Given the description of an element on the screen output the (x, y) to click on. 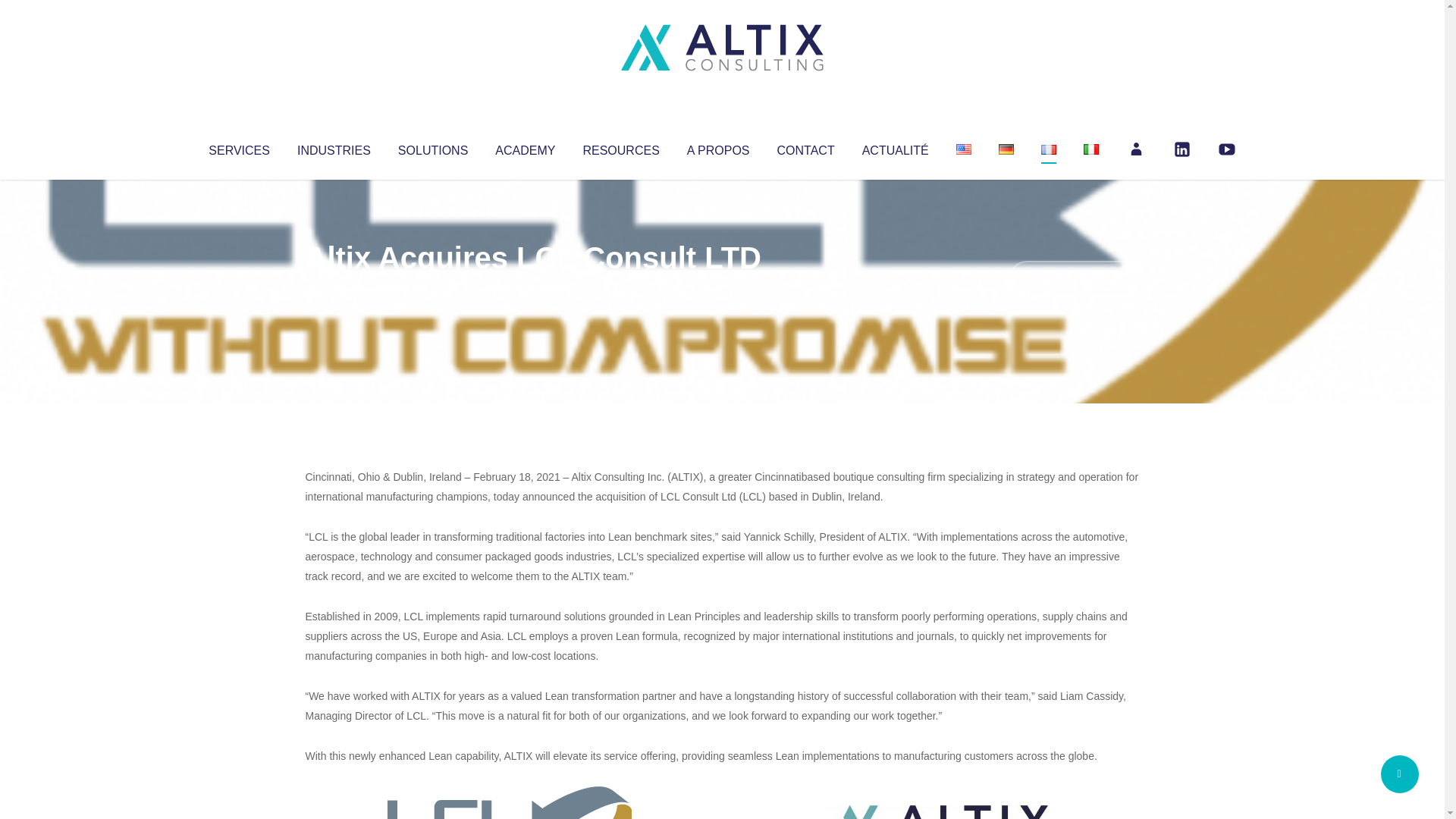
INDUSTRIES (334, 146)
A PROPOS (718, 146)
Altix (333, 287)
SERVICES (238, 146)
Articles par Altix (333, 287)
Uncategorized (530, 287)
RESOURCES (620, 146)
SOLUTIONS (432, 146)
ACADEMY (524, 146)
No Comments (1073, 278)
